Given the description of an element on the screen output the (x, y) to click on. 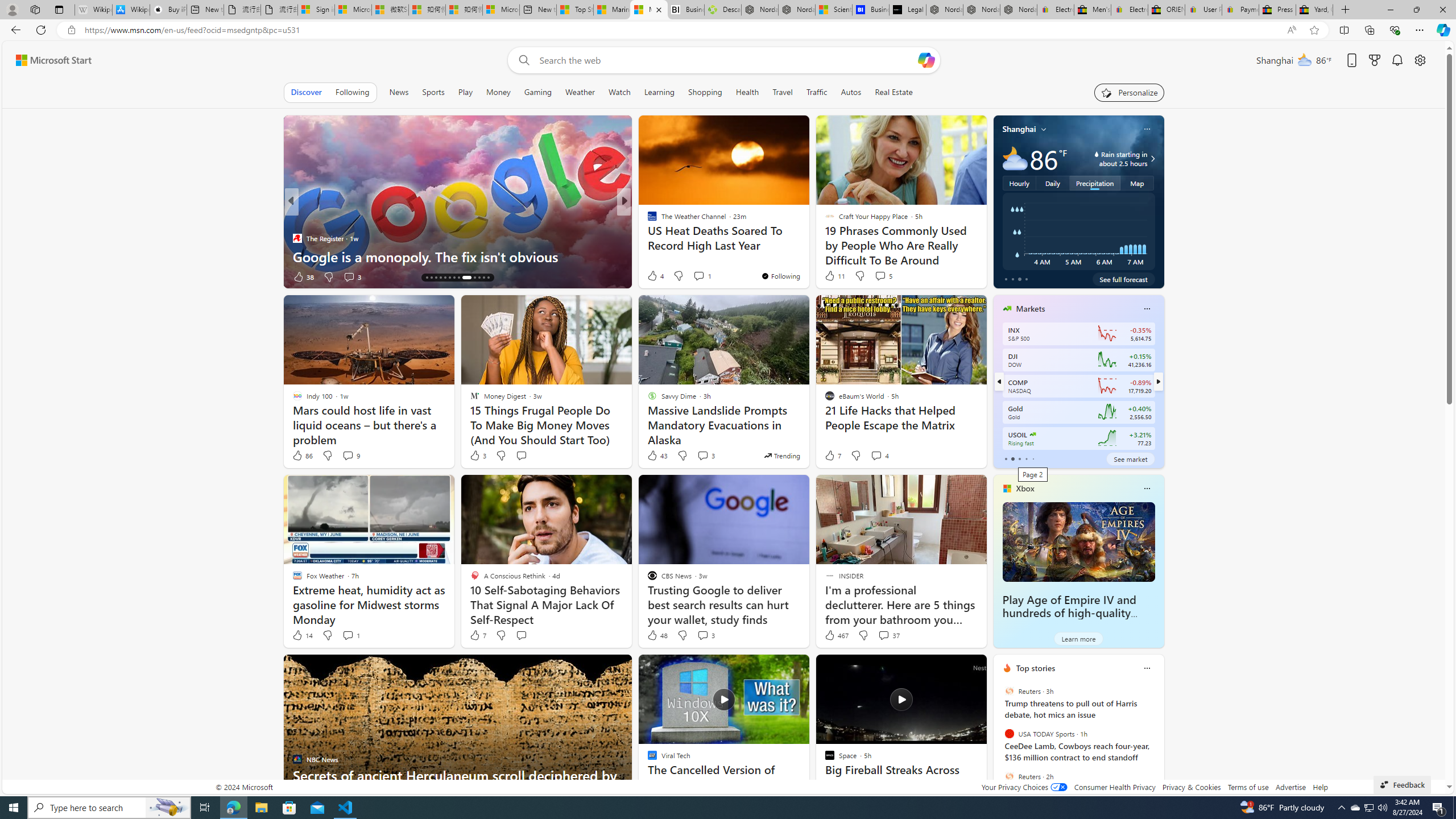
View comments 37 Comment (888, 634)
3 Like (477, 455)
Autos (851, 92)
Autos (850, 92)
View comments 2 Comment (702, 276)
AutomationID: tab-15 (431, 277)
Mostly cloudy (1014, 158)
11 Like (834, 275)
A Conscious Rethink (647, 219)
